Given the description of an element on the screen output the (x, y) to click on. 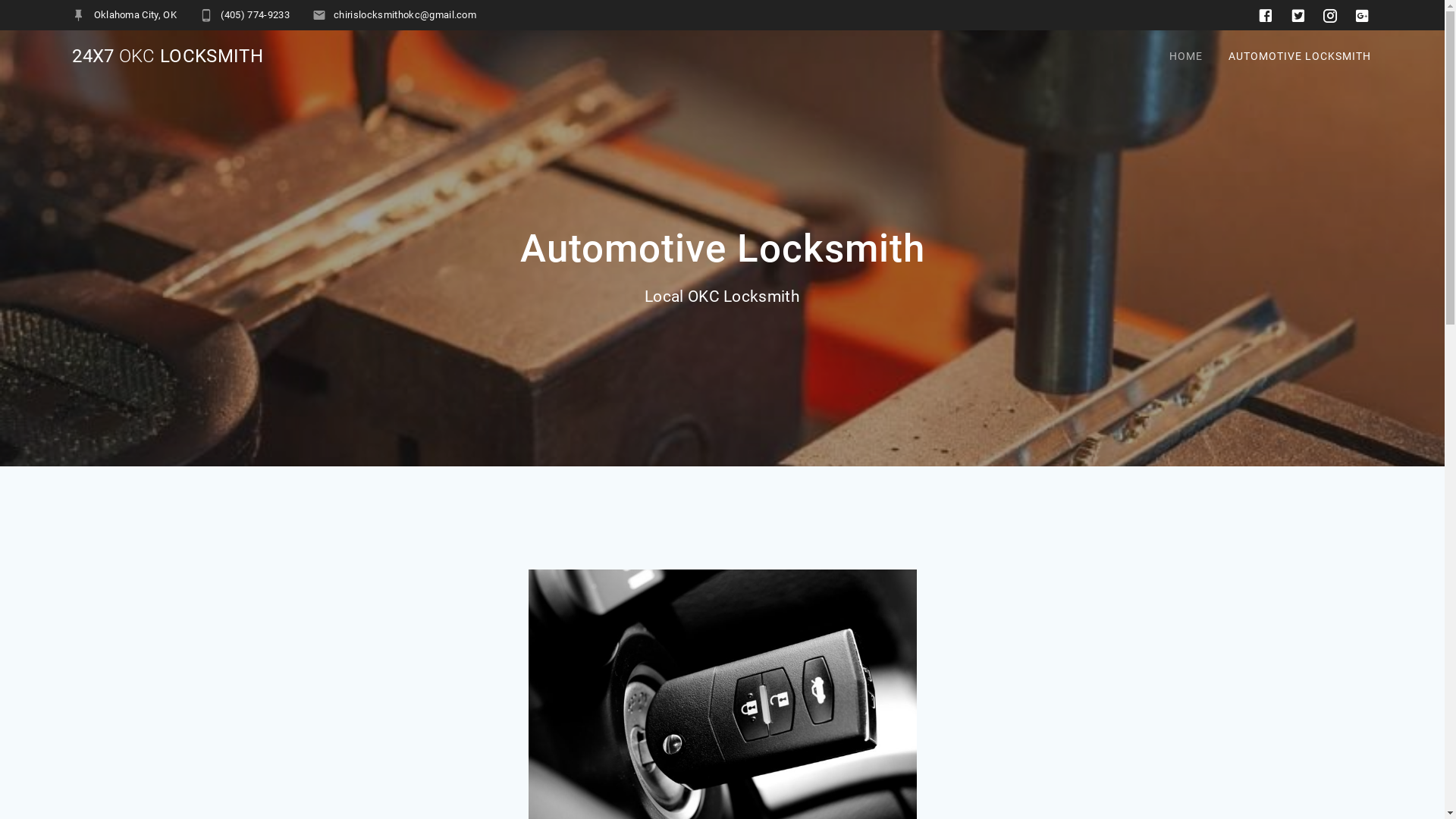
Skip to content Element type: text (0, 0)
HOME Element type: text (1185, 56)
AUTOMOTIVE LOCKSMITH Element type: text (1299, 56)
24X7 OKC LOCKSMITH Element type: text (167, 56)
